Given the description of an element on the screen output the (x, y) to click on. 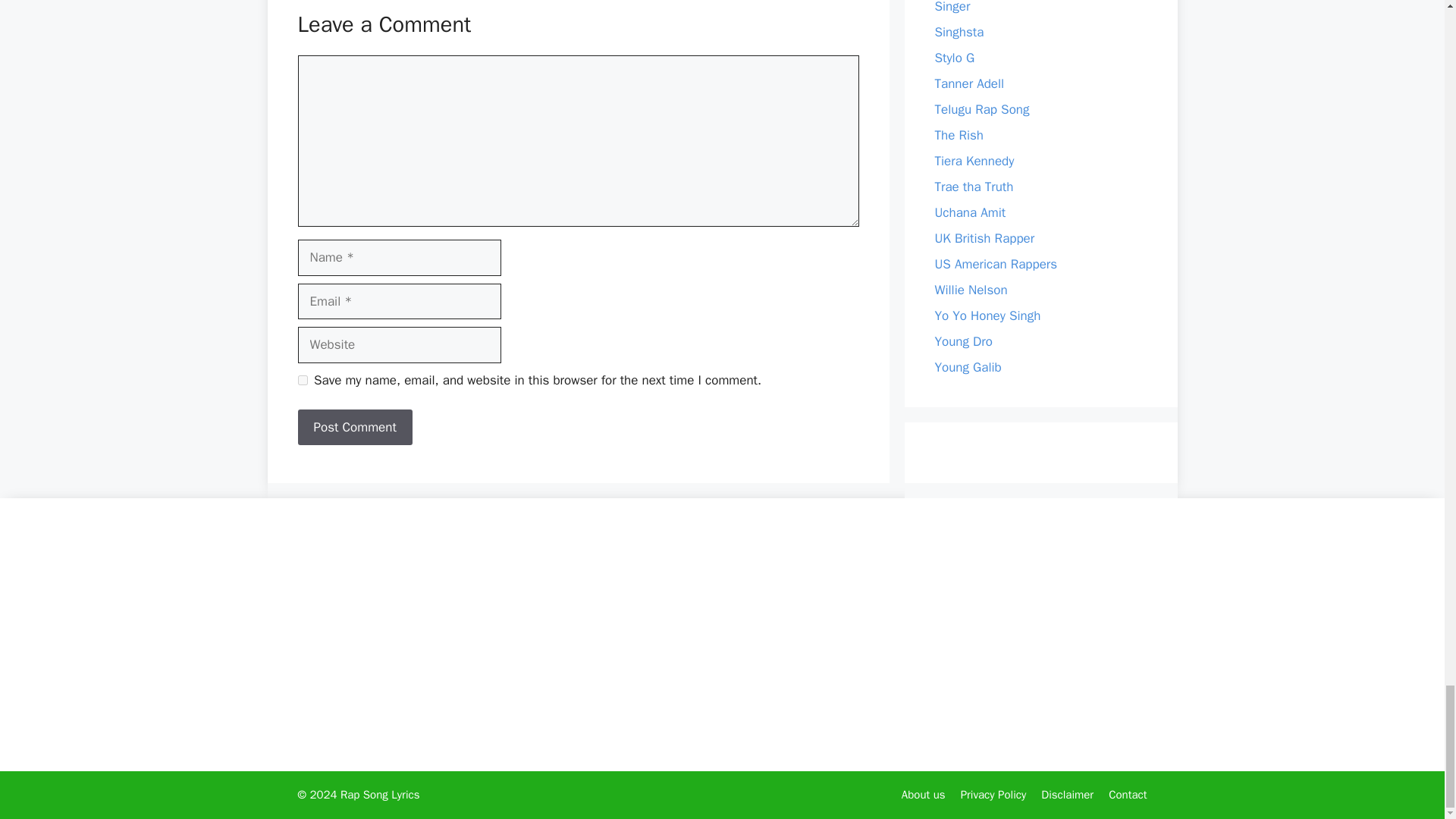
yes (302, 379)
Post Comment (354, 427)
